Given the description of an element on the screen output the (x, y) to click on. 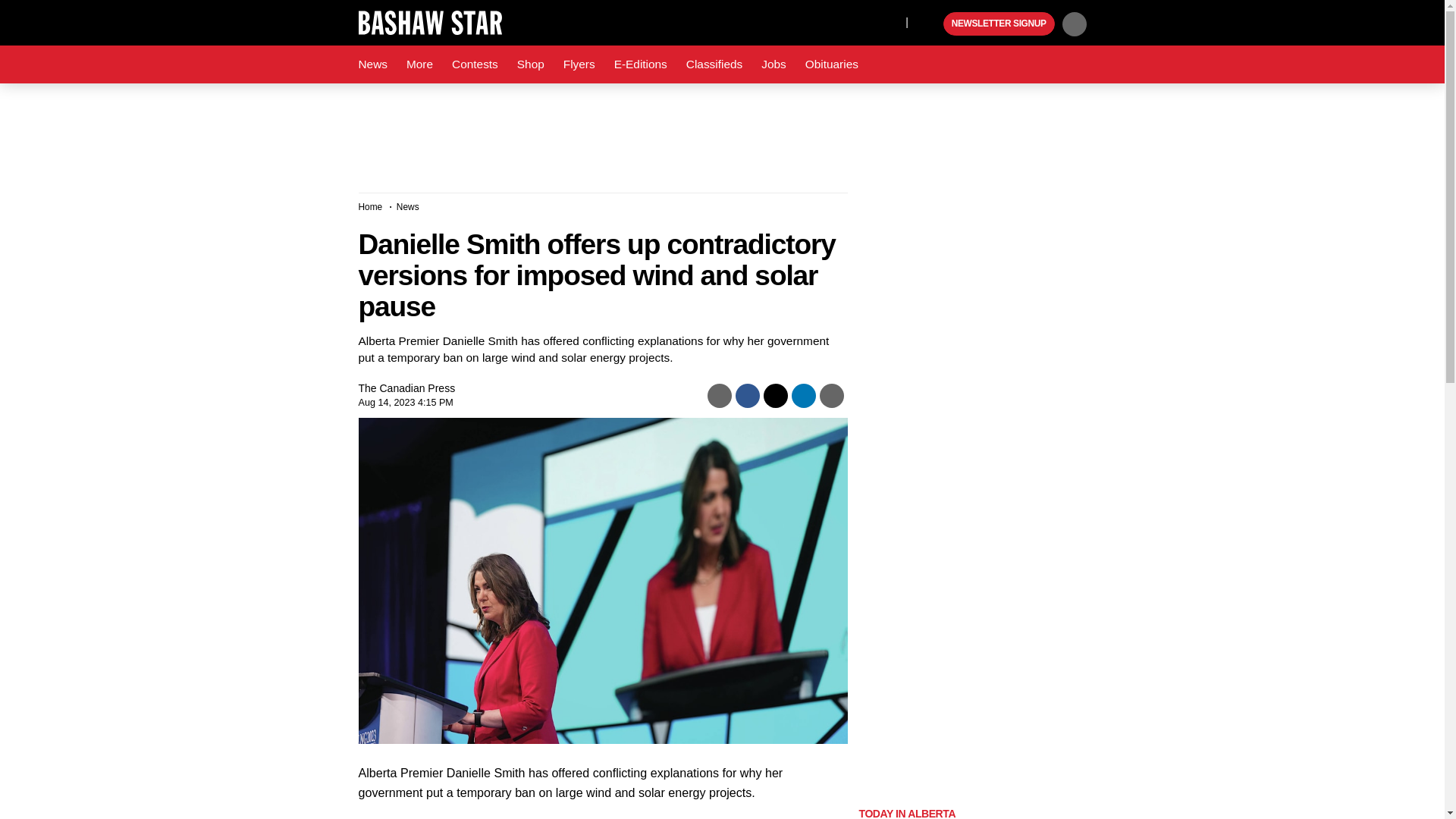
Play (929, 24)
Black Press Media (929, 24)
News (372, 64)
NEWSLETTER SIGNUP (998, 24)
X (889, 21)
